Given the description of an element on the screen output the (x, y) to click on. 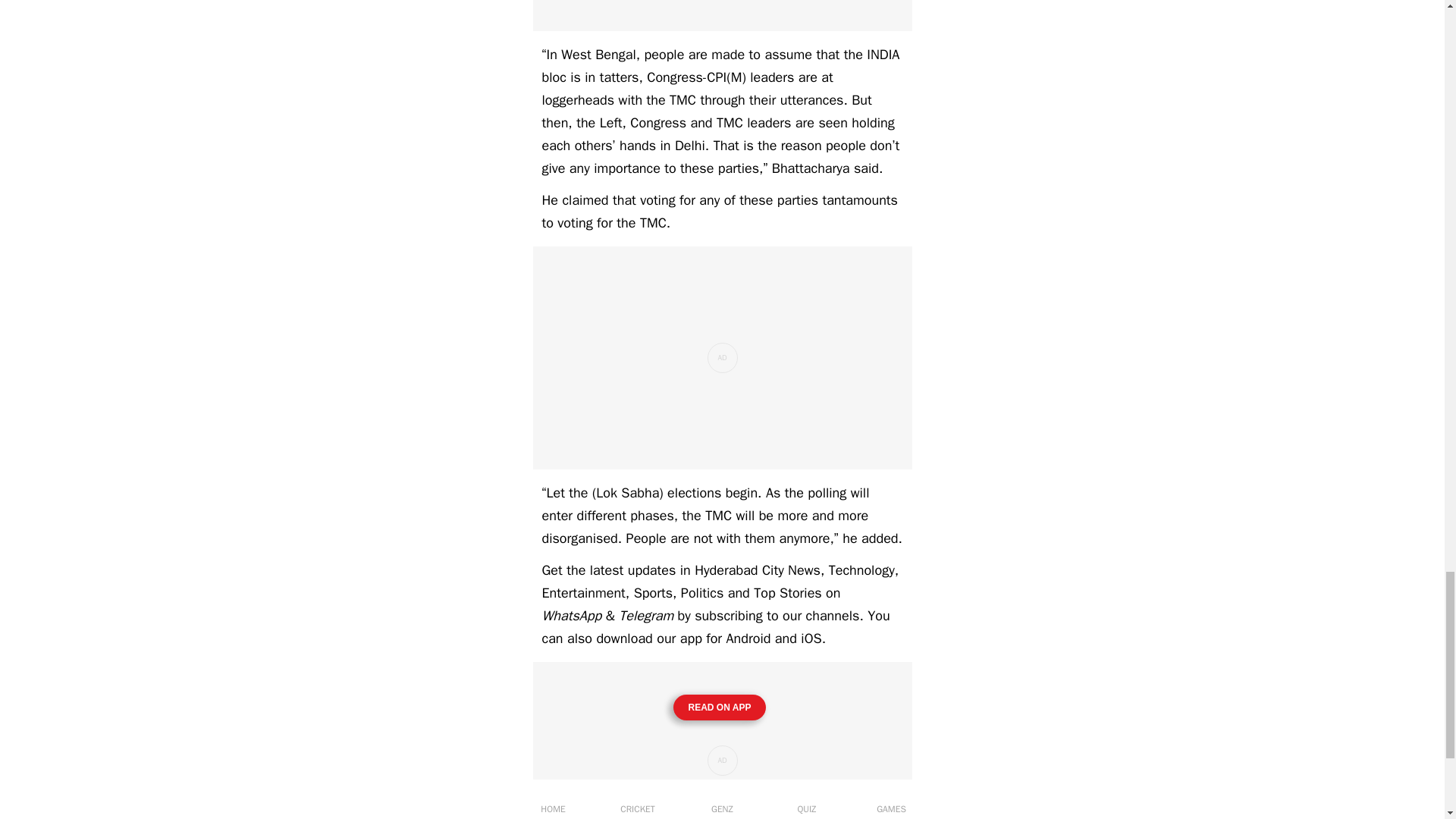
Entertainment (582, 592)
Sports (652, 592)
Telegram (645, 615)
WhatsApp (571, 615)
Politics (702, 592)
Android (747, 638)
Technology (861, 569)
Hyderabad City News (757, 569)
Top Stories (788, 592)
iOS (810, 638)
